Given the description of an element on the screen output the (x, y) to click on. 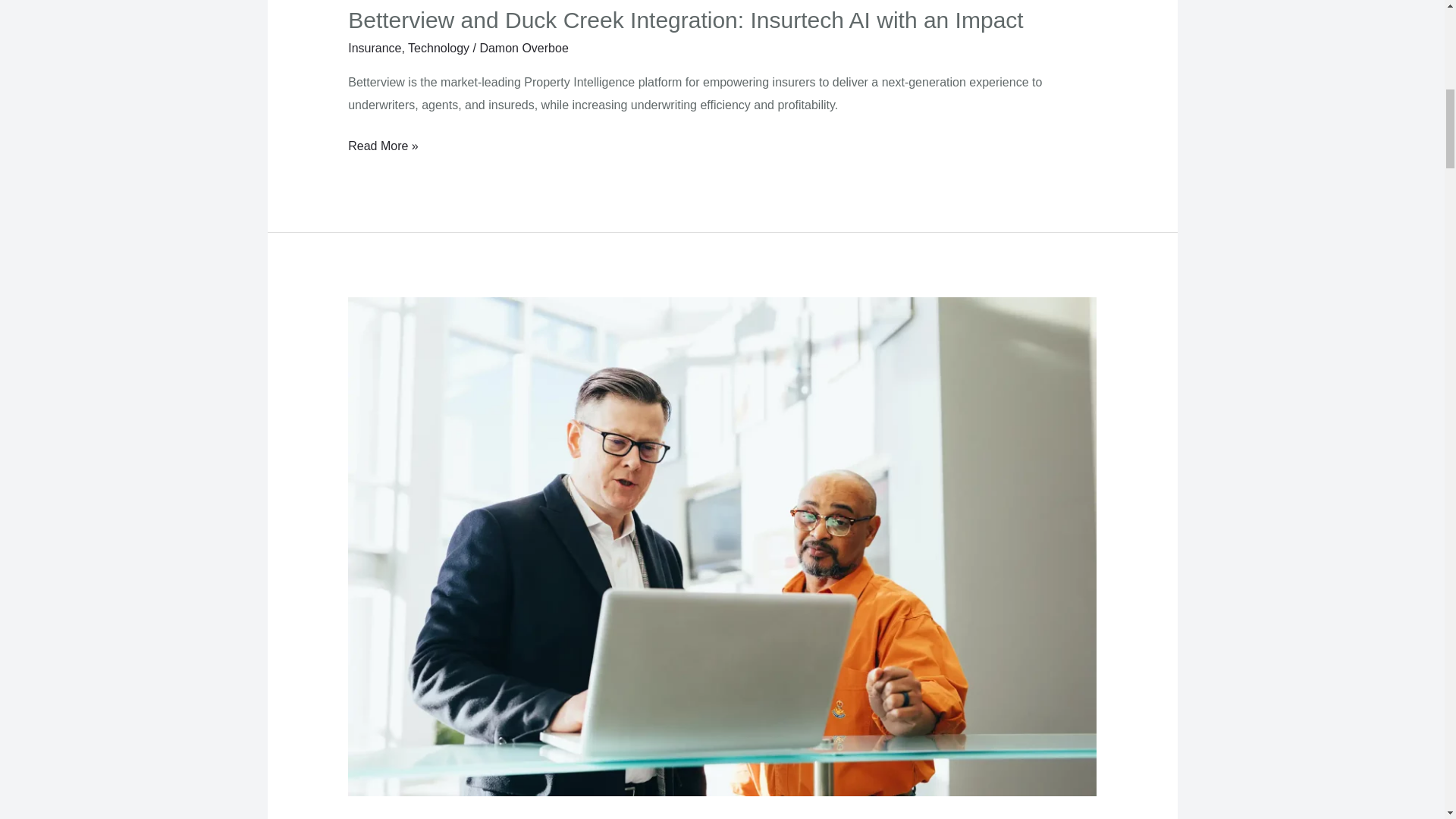
Technology (437, 47)
Insurance (374, 47)
View all posts by Damon Overboe (523, 47)
Damon Overboe (523, 47)
